Given the description of an element on the screen output the (x, y) to click on. 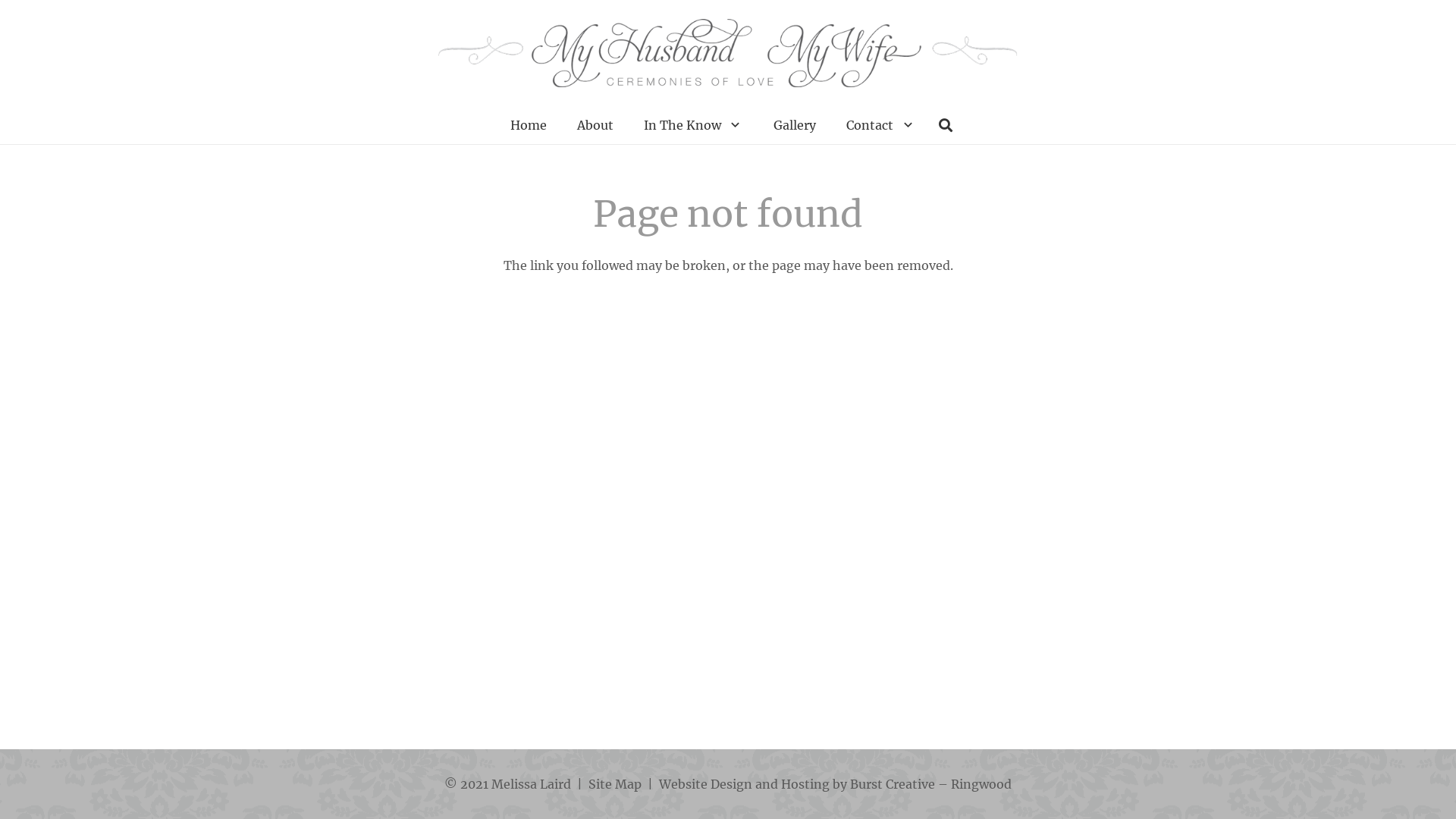
In The Know Element type: text (693, 125)
Site Map Element type: text (614, 783)
About Element type: text (594, 125)
Contact Element type: text (880, 125)
Gallery Element type: text (794, 125)
Home Element type: text (528, 125)
